Given the description of an element on the screen output the (x, y) to click on. 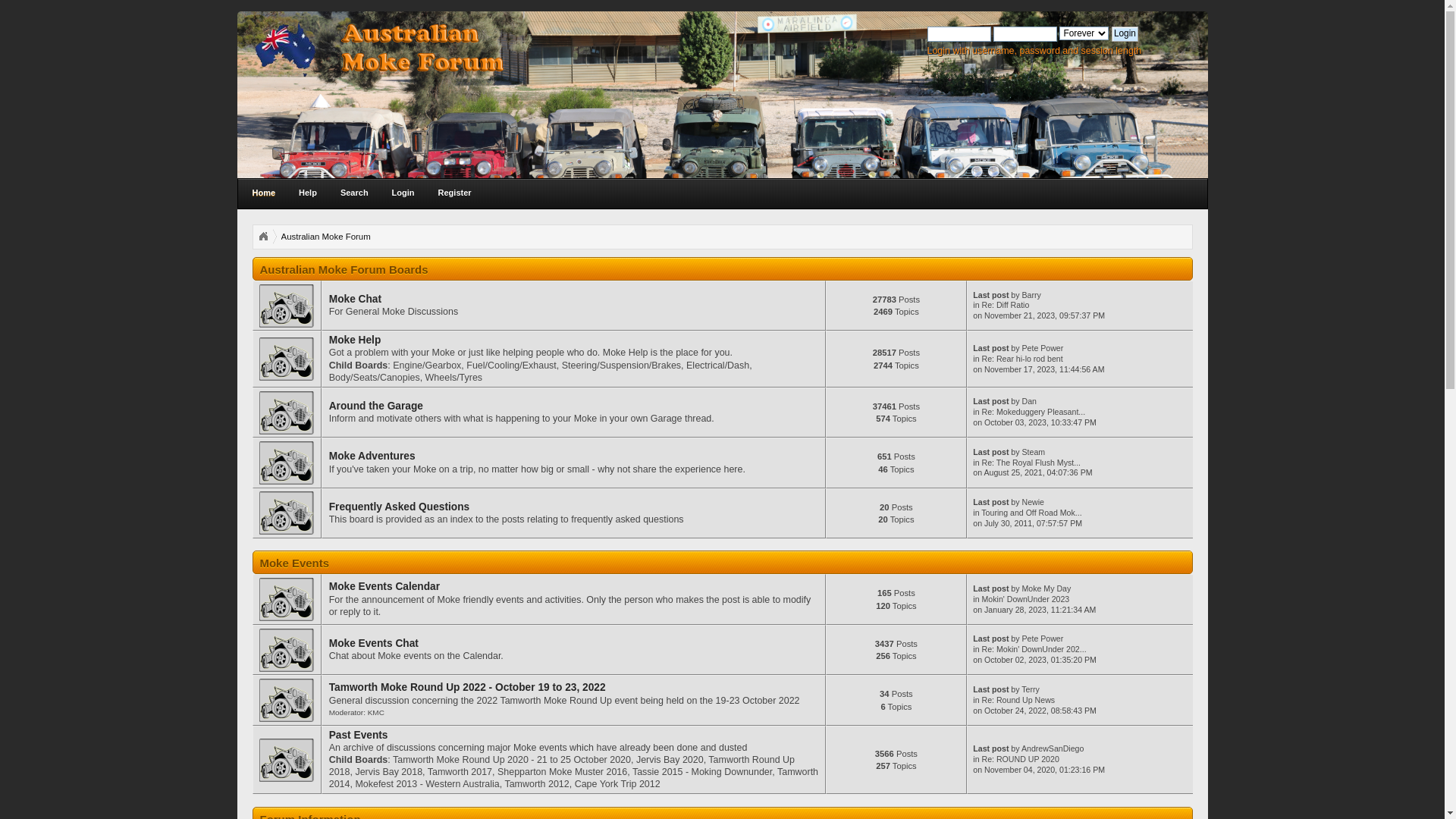
No New Posts Element type: hover (286, 412)
Re: Round Up News Element type: text (1018, 699)
Engine/Gearbox Element type: text (426, 365)
Tamworth 2017 Element type: text (459, 771)
AndrewSanDiego Element type: text (1052, 748)
No New Posts Element type: hover (286, 649)
Mokefest 2013 - Western Australia Element type: text (426, 783)
Pete Power Element type: text (1042, 347)
KMC Element type: text (375, 712)
Tamworth Moke Round Up 2022 - October 19 to 23, 2022 Element type: text (467, 687)
Tamworth 2012 Element type: text (536, 783)
Past Events Element type: text (358, 734)
No New Posts Element type: hover (286, 759)
Steam Element type: text (1033, 451)
Moke Help Element type: text (355, 339)
Barry Element type: text (1031, 294)
Pete Power Element type: text (1042, 638)
Moke Adventures Element type: text (372, 455)
Re: Mokeduggery Pleasant... Element type: text (1033, 411)
Mokin' DownUnder 2023 Element type: text (1026, 598)
Moke My Day Element type: text (1046, 588)
Moke Events Chat Element type: text (373, 643)
Steering/Suspension/Brakes Element type: text (620, 365)
Moke Chat Element type: text (355, 298)
Moke Events Calendar Element type: text (384, 586)
Dan Element type: text (1029, 400)
Fuel/Cooling/Exhaust Element type: text (511, 365)
No New Posts Element type: hover (286, 358)
Around the Garage Element type: text (376, 405)
No New Posts Element type: hover (286, 599)
Re: Rear hi-lo rod bent Element type: text (1022, 358)
Tamworth Moke Round Up 2020 - 21 to 25 October 2020 Element type: text (511, 759)
Australian Moke Forum Element type: text (325, 236)
Home Element type: text (263, 192)
Login Element type: text (1124, 33)
No New Posts Element type: hover (286, 512)
Terry Element type: text (1030, 688)
Tamworth Round Up 2018 Element type: text (561, 765)
Re: Mokin' DownUnder 202... Element type: text (1034, 648)
No New Posts Element type: hover (286, 462)
Help Element type: text (307, 192)
Re: ROUND UP 2020 Element type: text (1020, 758)
Electrical/Dash Element type: text (717, 365)
Touring and Off Road Mok... Element type: text (1031, 512)
Jervis Bay 2018 Element type: text (388, 771)
No New Posts Element type: hover (286, 305)
Shepparton Moke Muster 2016 Element type: text (562, 771)
Newie Element type: text (1033, 501)
Tassie 2015 - Moking Downunder Element type: text (701, 771)
Re: The Royal Flush Myst... Element type: text (1031, 462)
Cape York Trip 2012 Element type: text (617, 783)
Login Element type: text (402, 192)
Re: Diff Ratio Element type: text (1005, 304)
Tamworth 2014 Element type: text (573, 777)
Search Element type: text (354, 192)
No New Posts Element type: hover (286, 699)
Wheels/Tyres Element type: text (454, 377)
Jervis Bay 2020 Element type: text (669, 759)
Frequently Asked Questions Element type: text (399, 506)
Register Element type: text (454, 192)
Body/Seats/Canopies Element type: text (374, 377)
